Given the description of an element on the screen output the (x, y) to click on. 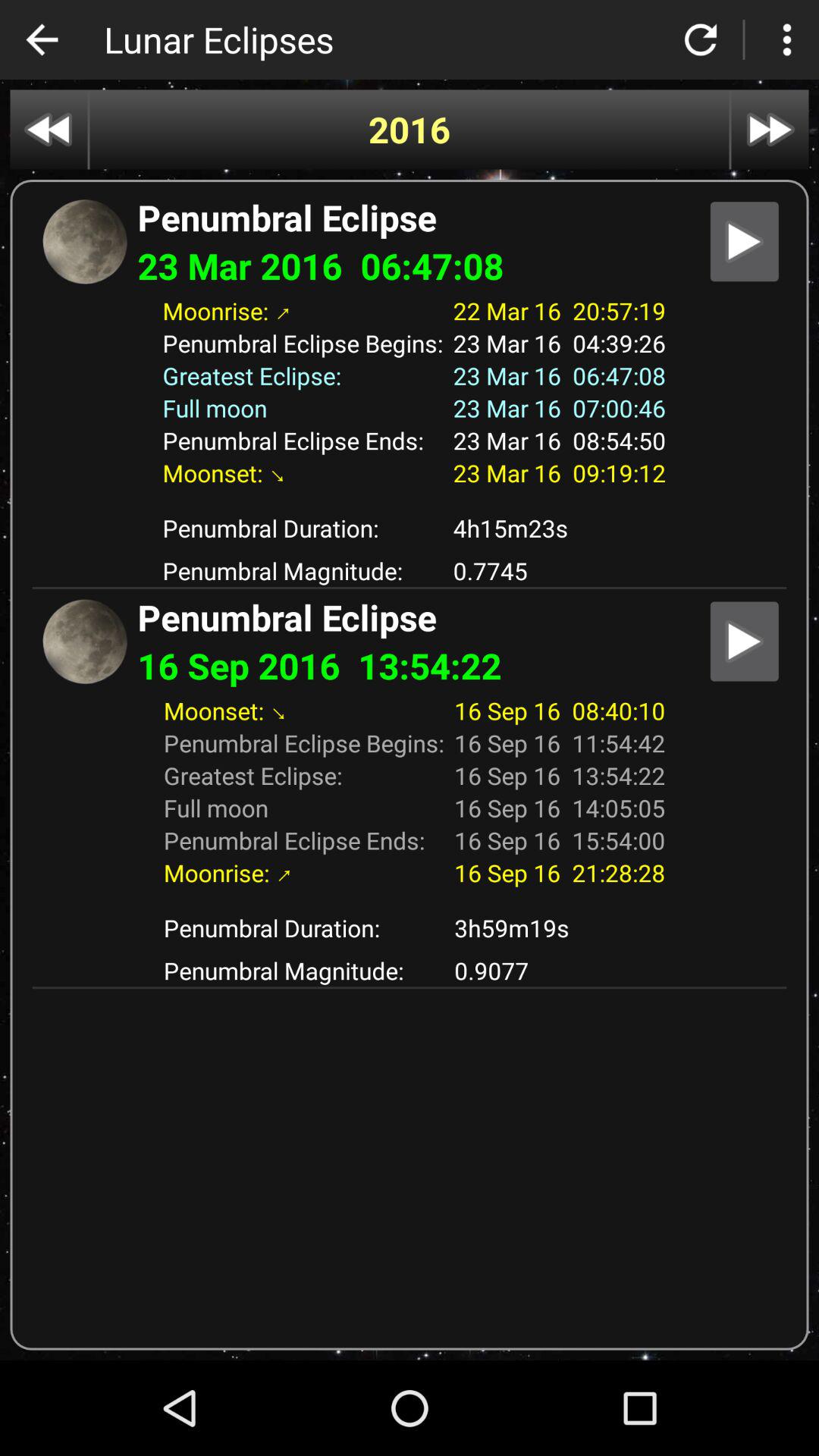
open app to the right of penumbral duration: (559, 927)
